Given the description of an element on the screen output the (x, y) to click on. 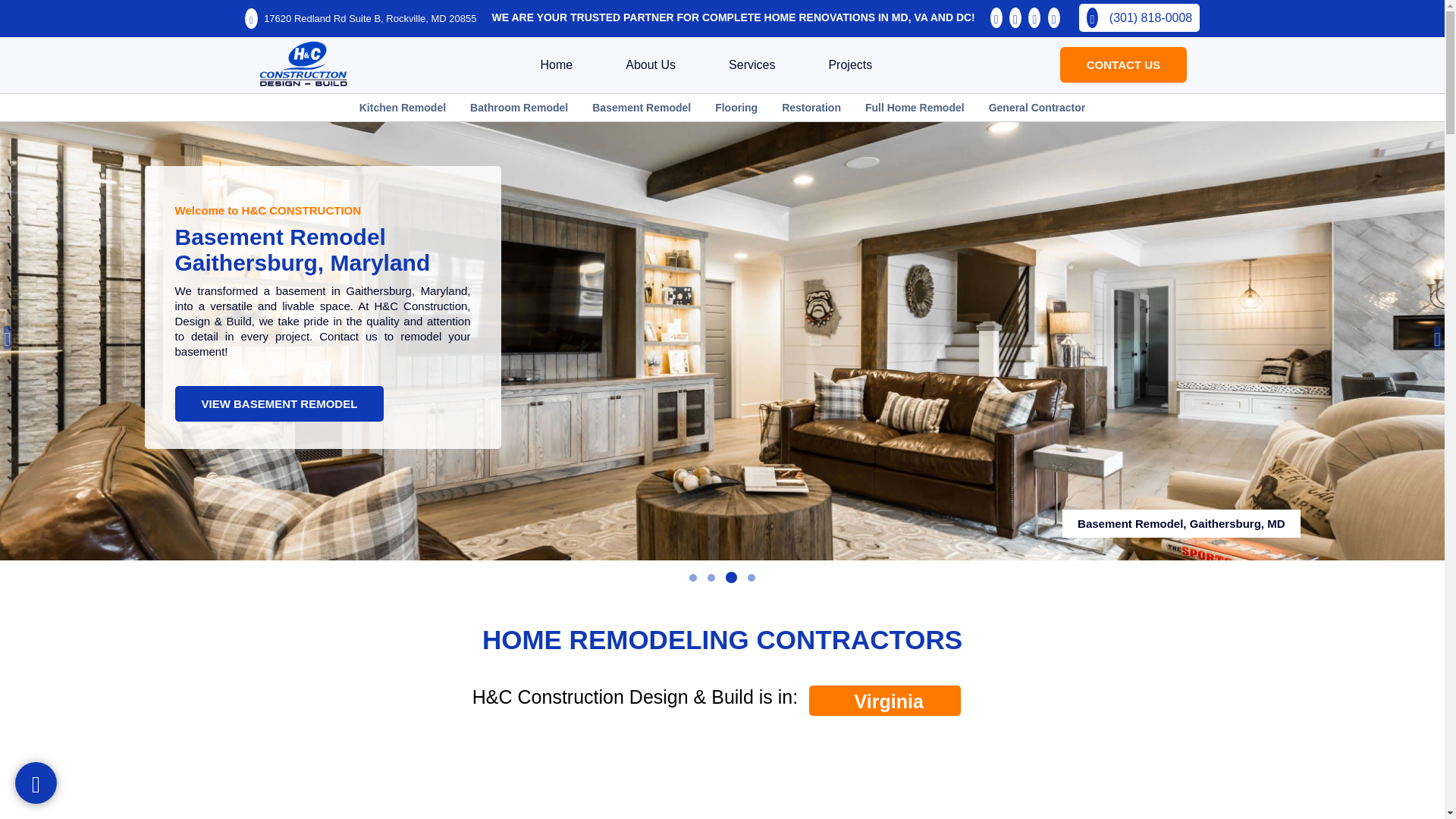
Flooring (735, 107)
Full Home Remodel (913, 107)
Bathroom Remodel (518, 107)
Waze (49, 805)
Services (751, 64)
Basement Remodel (641, 107)
Projects (850, 64)
Kitchen Remodel (402, 107)
Maps (48, 804)
CONTACT US (1122, 64)
17620 Redland Rd Suite B, Rockville, MD 20855 (360, 18)
About Us (649, 64)
Restoration (811, 107)
General Contractor (1037, 107)
